Given the description of an element on the screen output the (x, y) to click on. 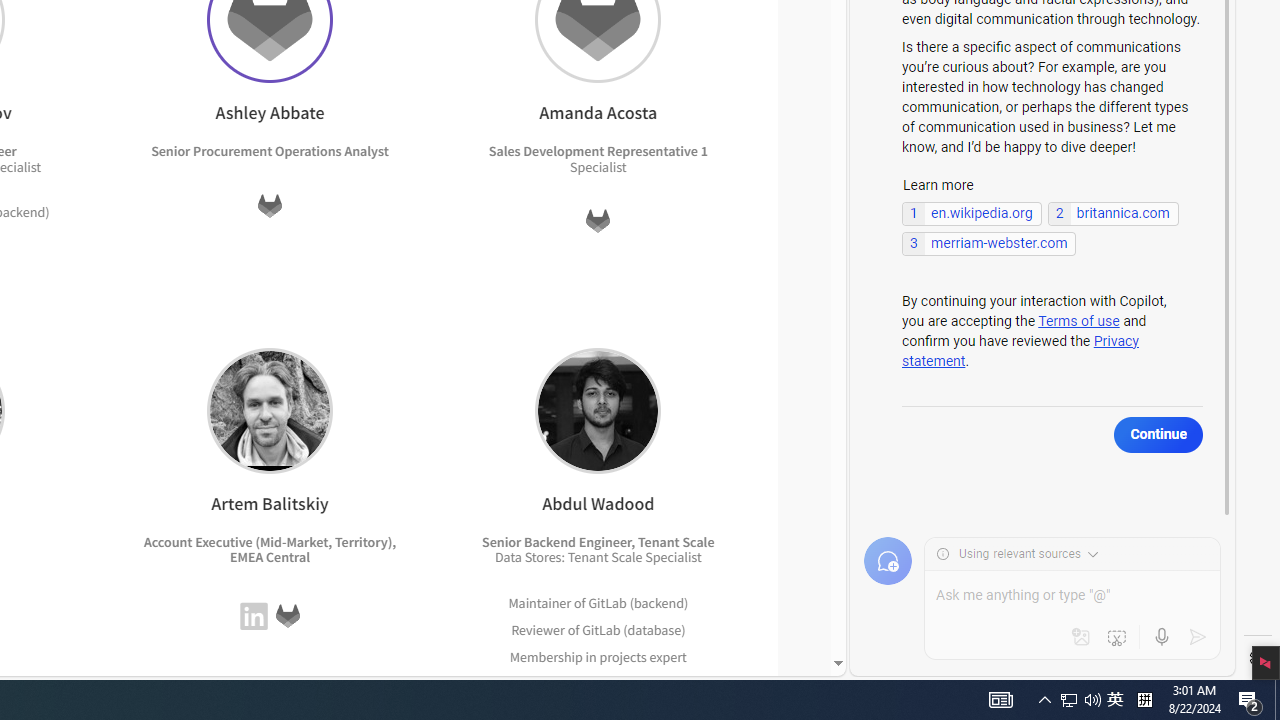
Artem Balitskiy (269, 410)
Membership in groups expert (598, 683)
Reviewer of GitLab (database) (598, 629)
expert (664, 682)
GitLab (601, 629)
Membership in projects expert (598, 655)
Senior Procurement Operations Analyst (270, 151)
